Given the description of an element on the screen output the (x, y) to click on. 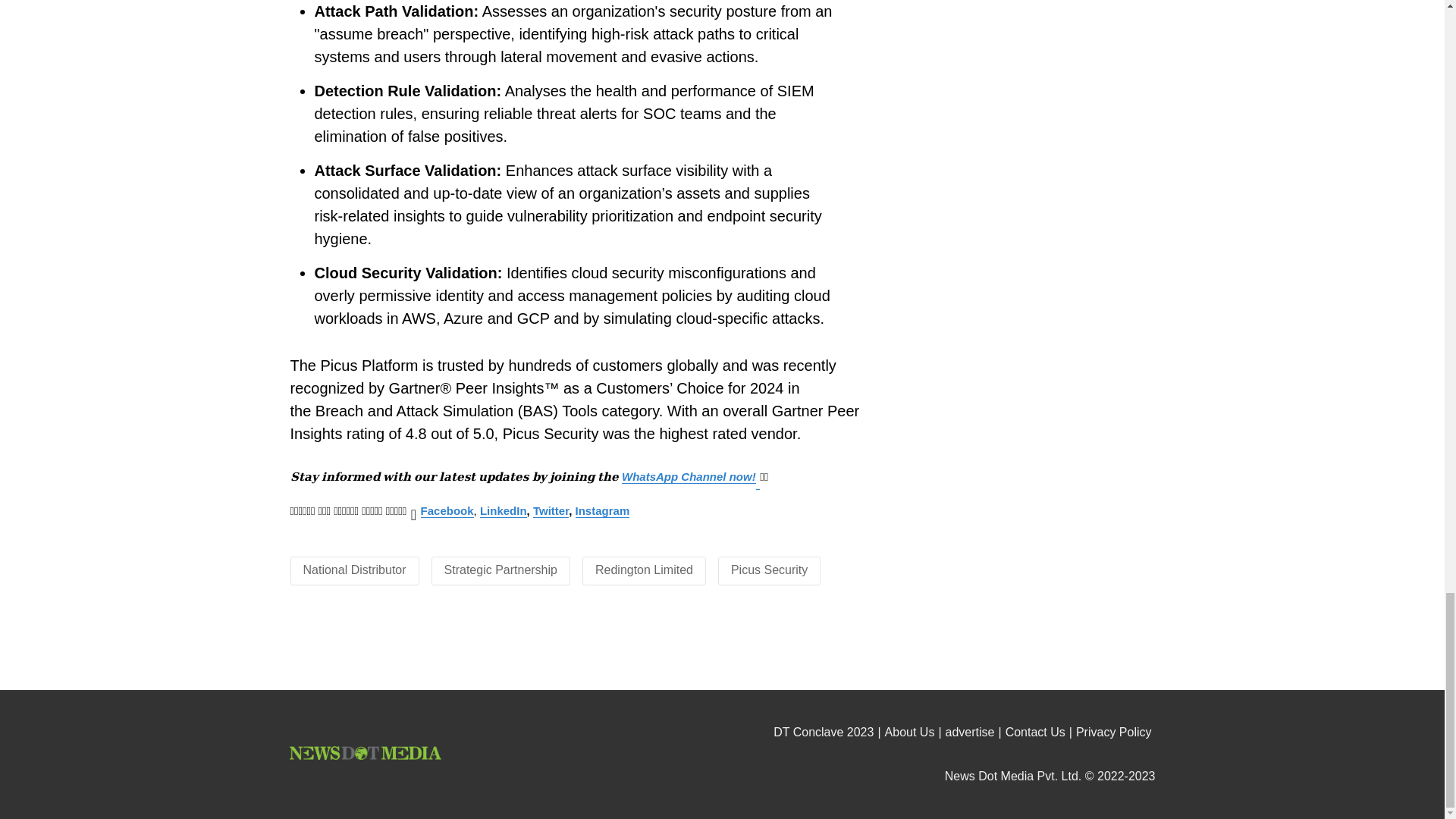
Twitter (550, 509)
Instagram (602, 509)
LinkedIn (503, 509)
Facebook (447, 509)
National Distributor (354, 569)
3rd party ad content (722, 649)
WhatsApp Channel now! (688, 477)
Strategic Partnership (500, 569)
